Given the description of an element on the screen output the (x, y) to click on. 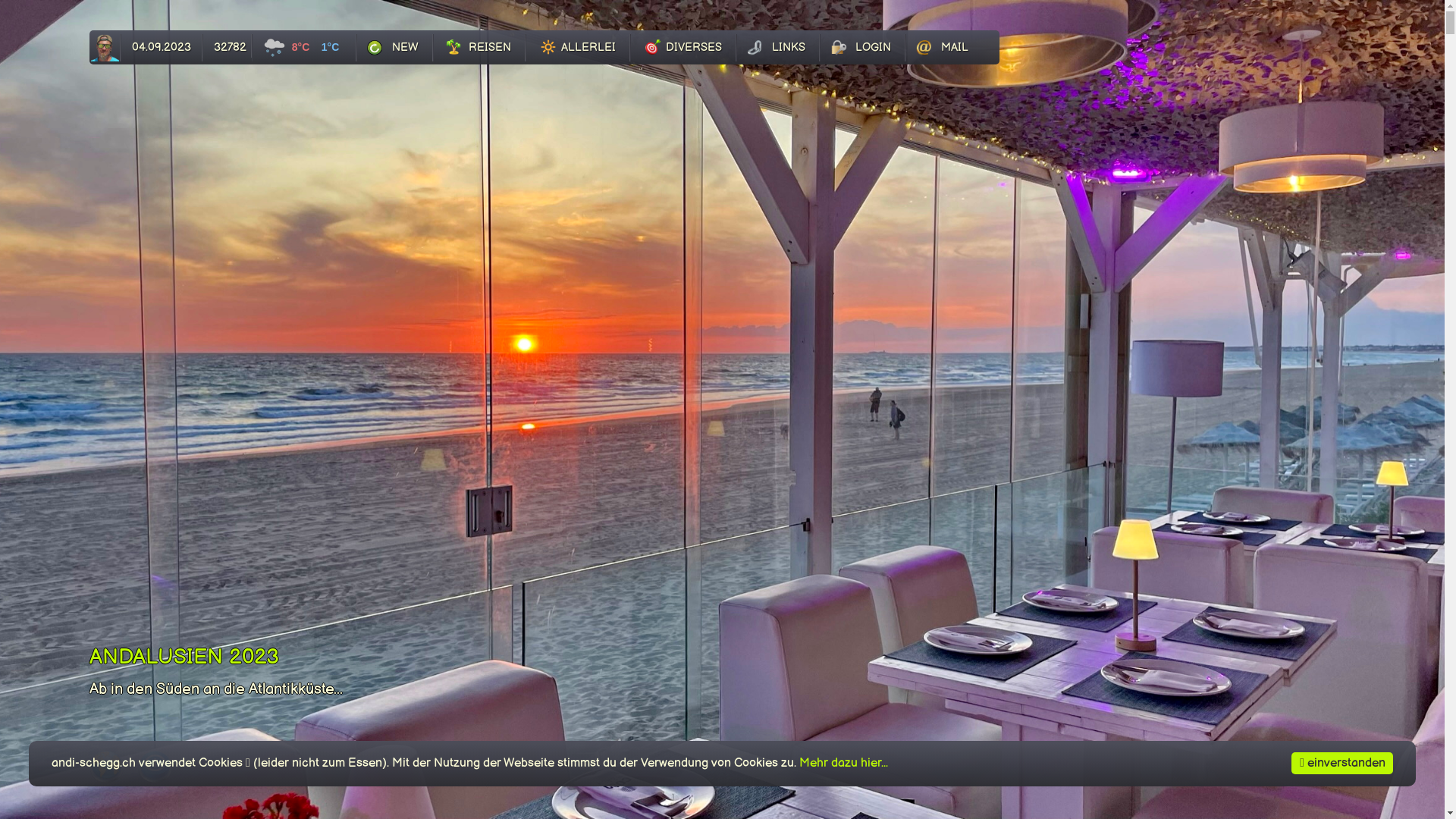
        LINKS  Element type: text (777, 47)
32782 Element type: text (226, 45)
        ALLERLEI  Element type: text (577, 47)
mit Google Maps nach Andalusien... Element type: hover (106, 777)
        REISEN  Element type: text (479, 47)
ANDALUSIEN 2023 Element type: text (184, 656)
    Element type: text (104, 47)
04.09.2023 Element type: text (161, 47)
        NEW  Element type: text (394, 47)
        DIVERSES  Element type: text (683, 47)
        LOGIN  Element type: text (862, 47)
        MAIL  Element type: text (943, 47)
Mehr dazu hier... Element type: text (843, 763)
